Given the description of an element on the screen output the (x, y) to click on. 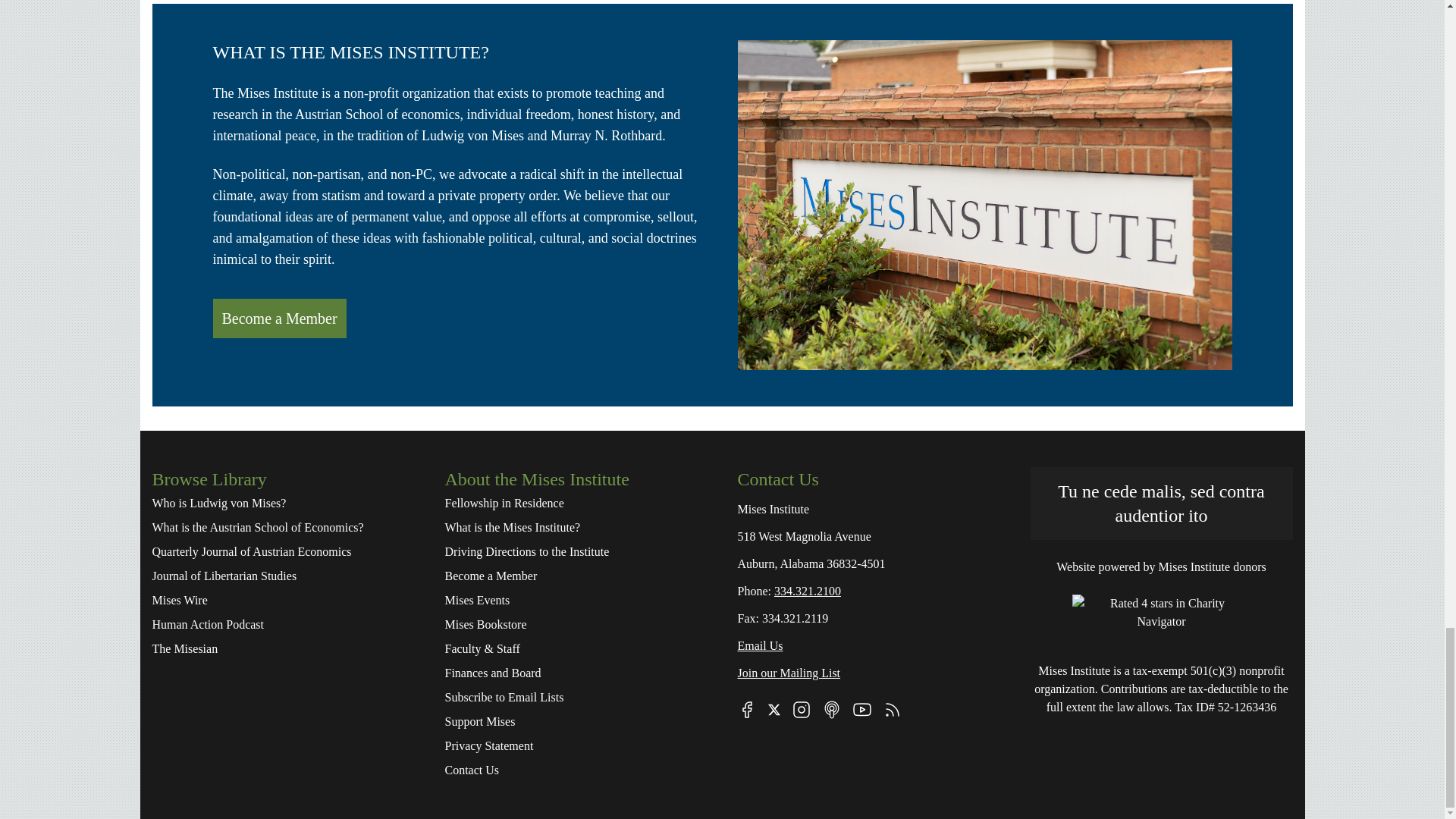
The Misesian (282, 648)
